Given the description of an element on the screen output the (x, y) to click on. 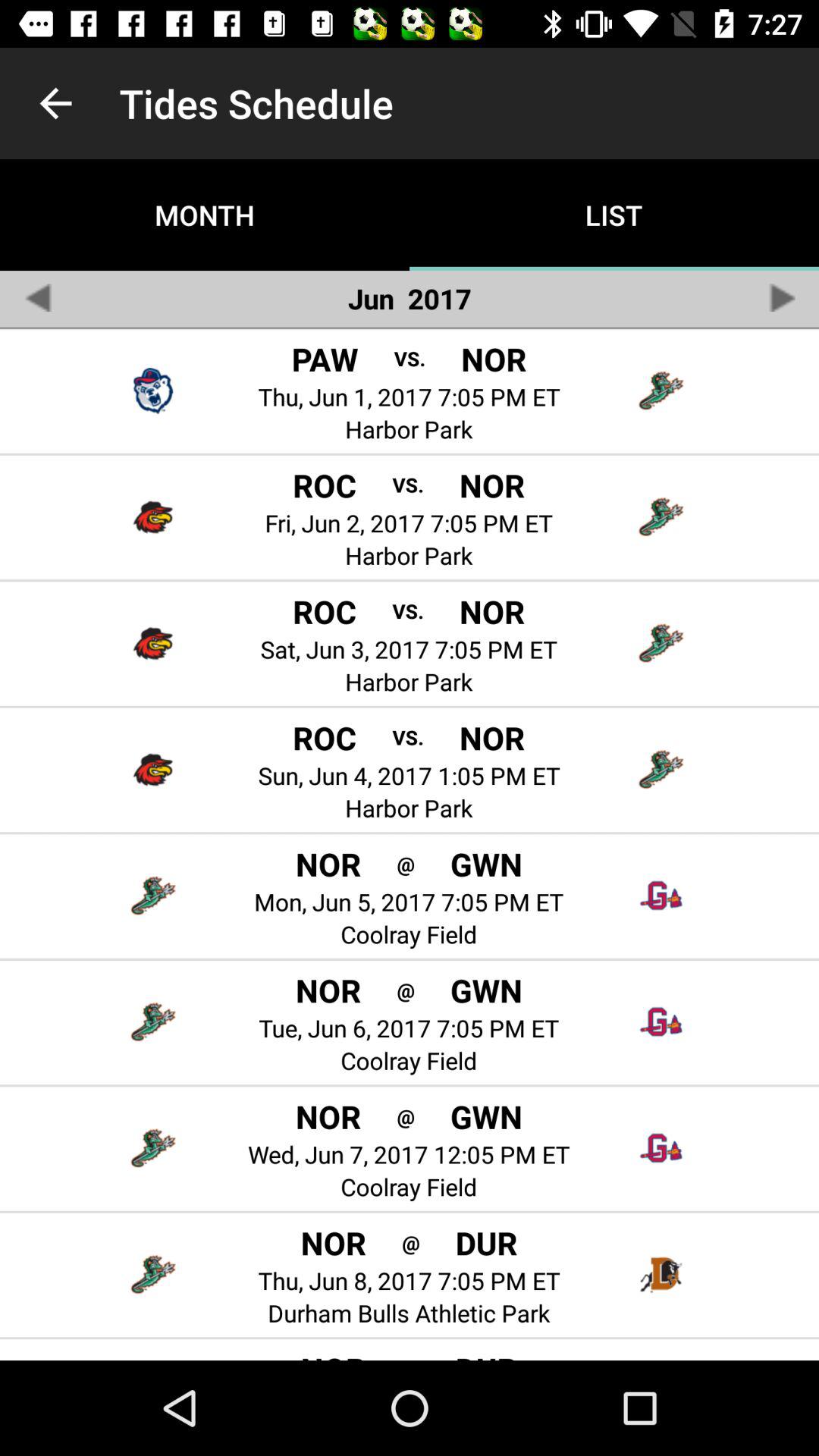
turn off app to the right of nor icon (410, 1242)
